Given the description of an element on the screen output the (x, y) to click on. 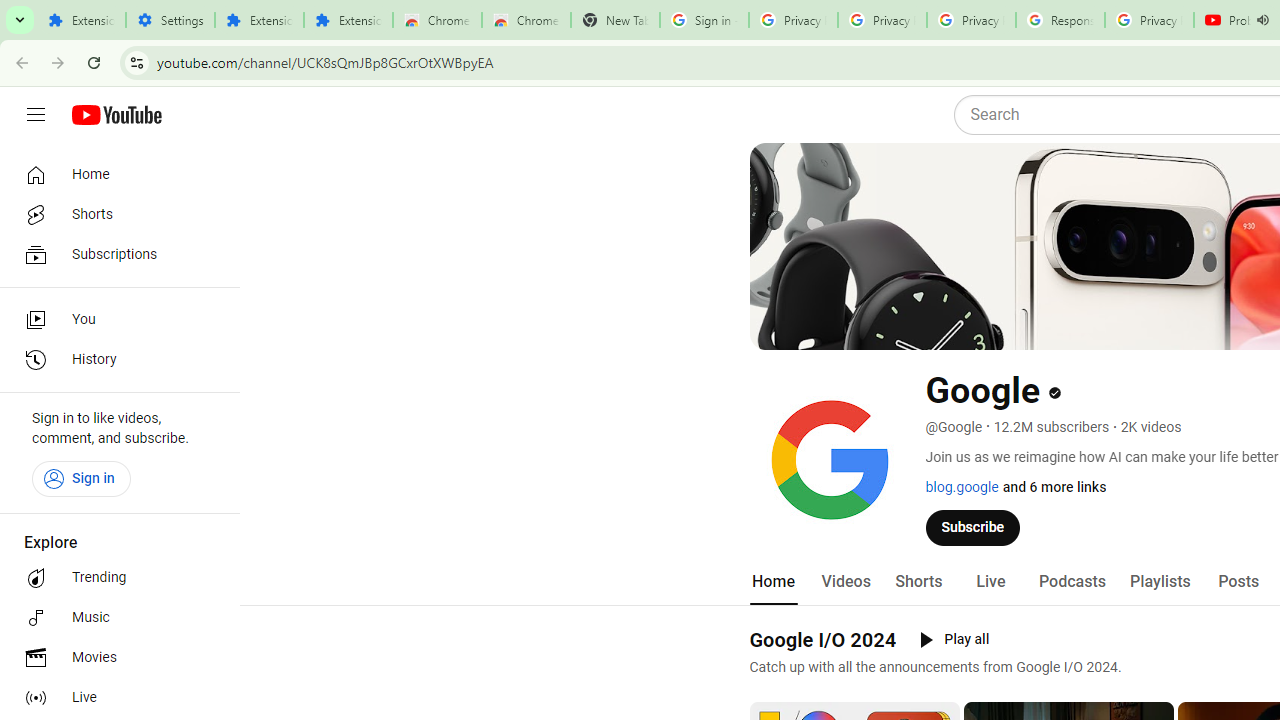
Live (990, 581)
Reload (93, 62)
Search tabs (20, 20)
Extensions (259, 20)
and 6 more links (1054, 487)
Play all (954, 640)
Live (113, 697)
Google I/O 2024 (822, 639)
Settings (170, 20)
blog.google (961, 487)
New Tab (615, 20)
Shorts (918, 581)
